Given the description of an element on the screen output the (x, y) to click on. 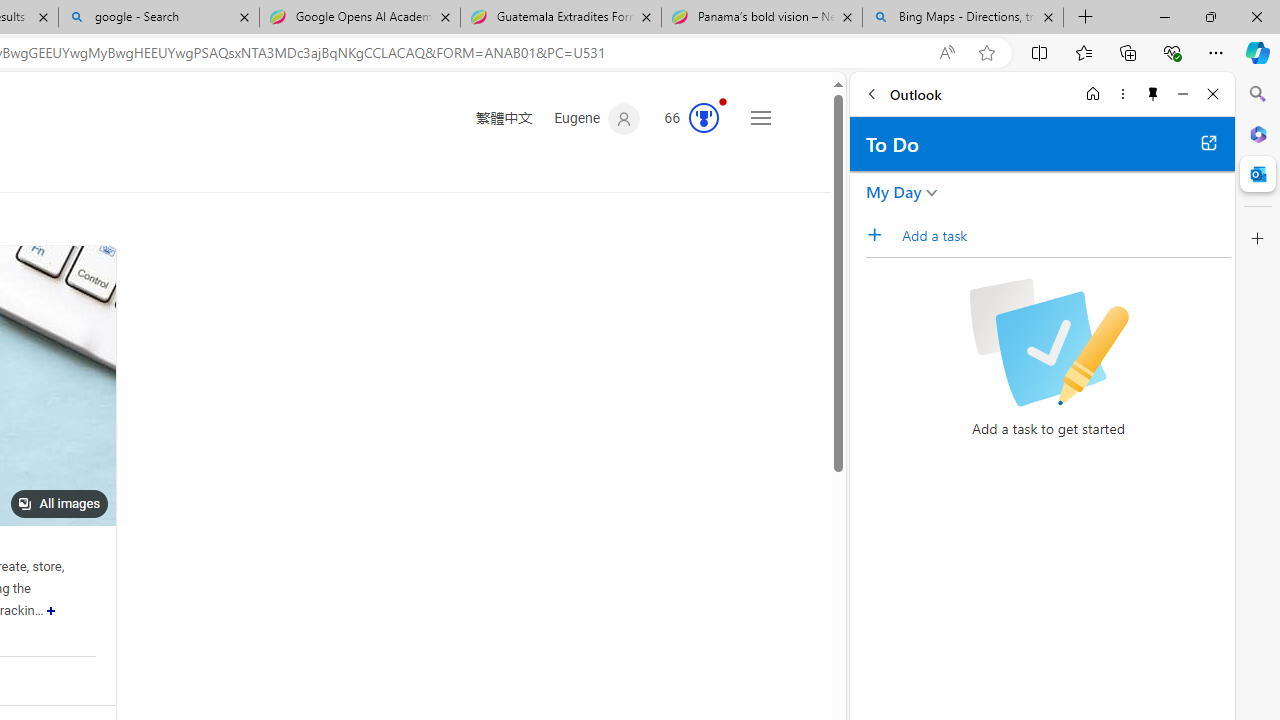
Microsoft Rewards 63 (685, 119)
AutomationID: serp_medal_svg (703, 117)
Add a task (881, 235)
Unpin side pane (1153, 93)
Open in new tab (1208, 142)
google - Search (158, 17)
Settings and quick links (760, 117)
